Given the description of an element on the screen output the (x, y) to click on. 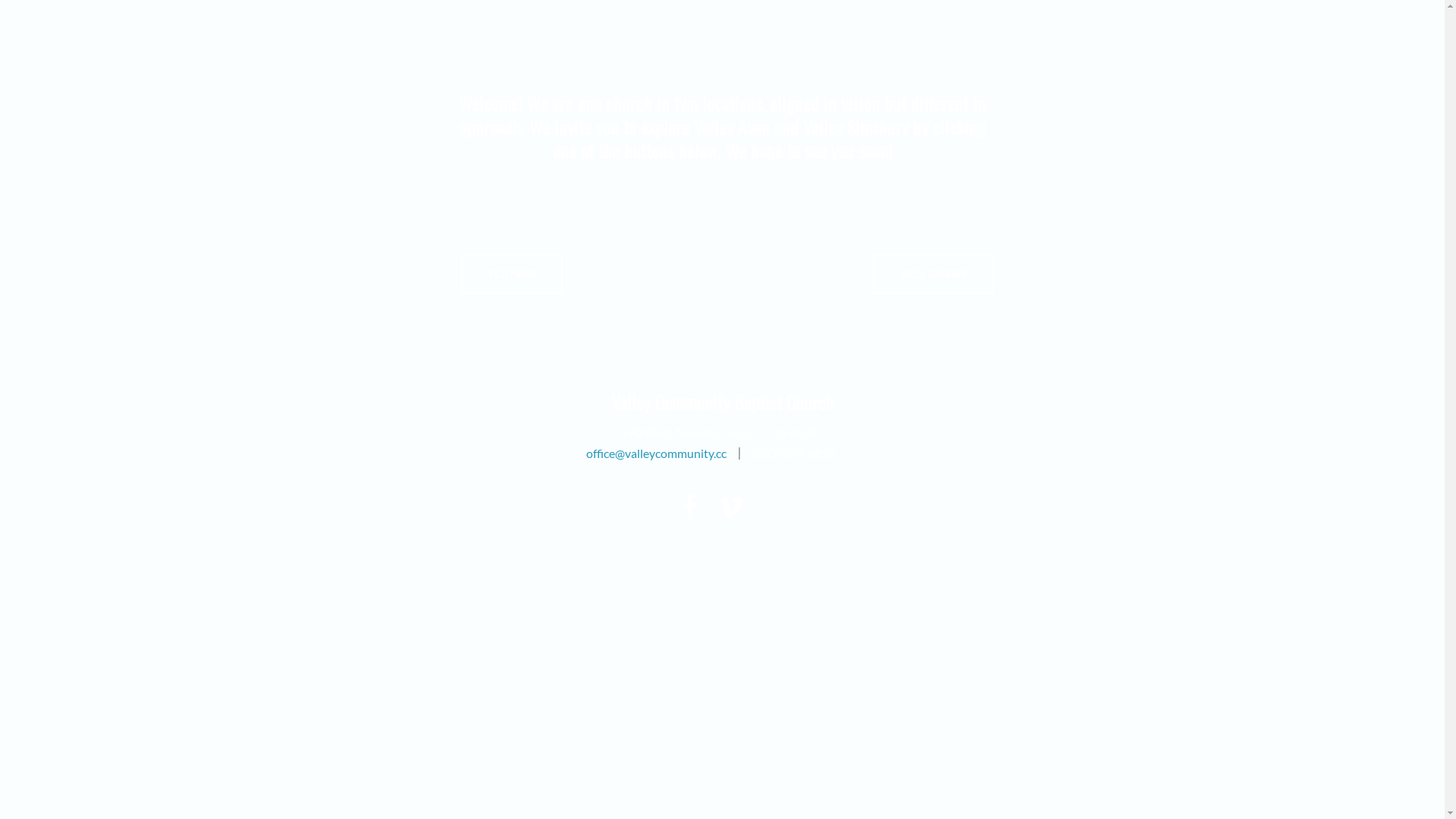
VALLEY AVON Element type: text (511, 273)
VALLEY SIMSBURY Element type: text (932, 273)
office@valleycommunity.cc Element type: text (655, 452)
